Given the description of an element on the screen output the (x, y) to click on. 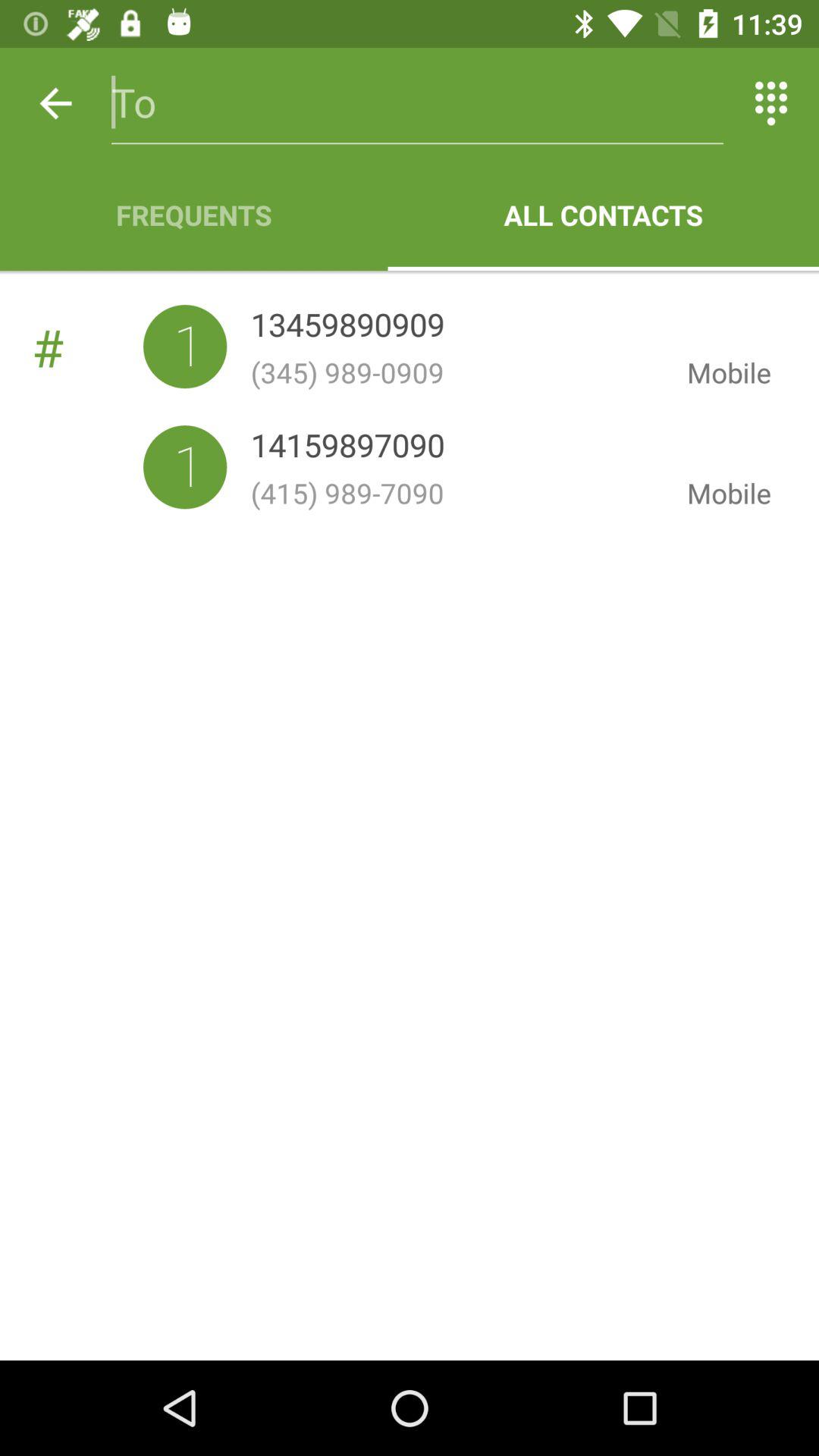
turn off item next to the mobile icon (347, 327)
